Given the description of an element on the screen output the (x, y) to click on. 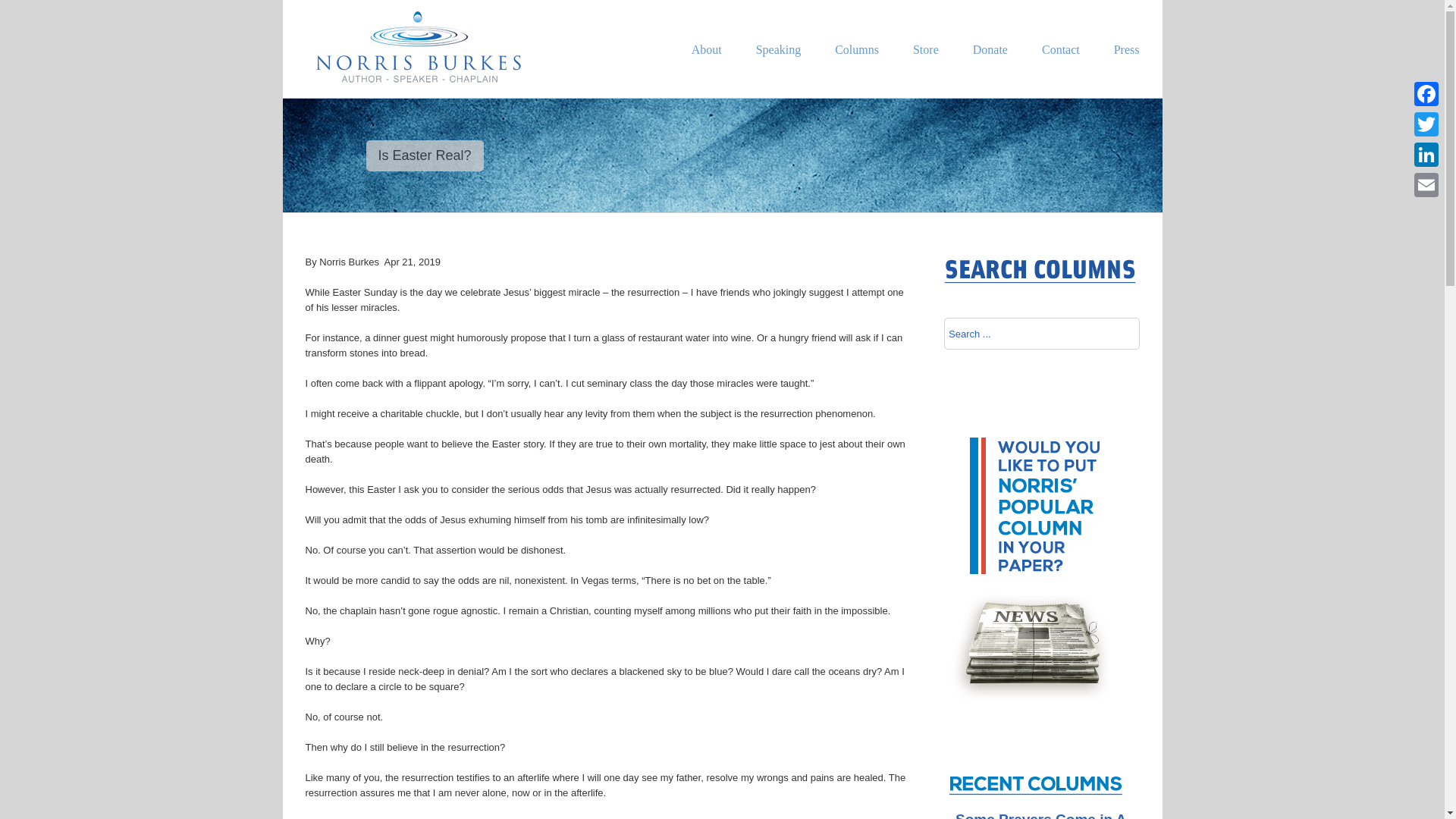
Twitter (1425, 123)
Press (1126, 70)
Columns (856, 70)
About (706, 70)
Contact (1061, 70)
Speaking (778, 70)
Store (925, 70)
Donate (989, 70)
LinkedIn (1425, 154)
Facebook (1425, 93)
